Given the description of an element on the screen output the (x, y) to click on. 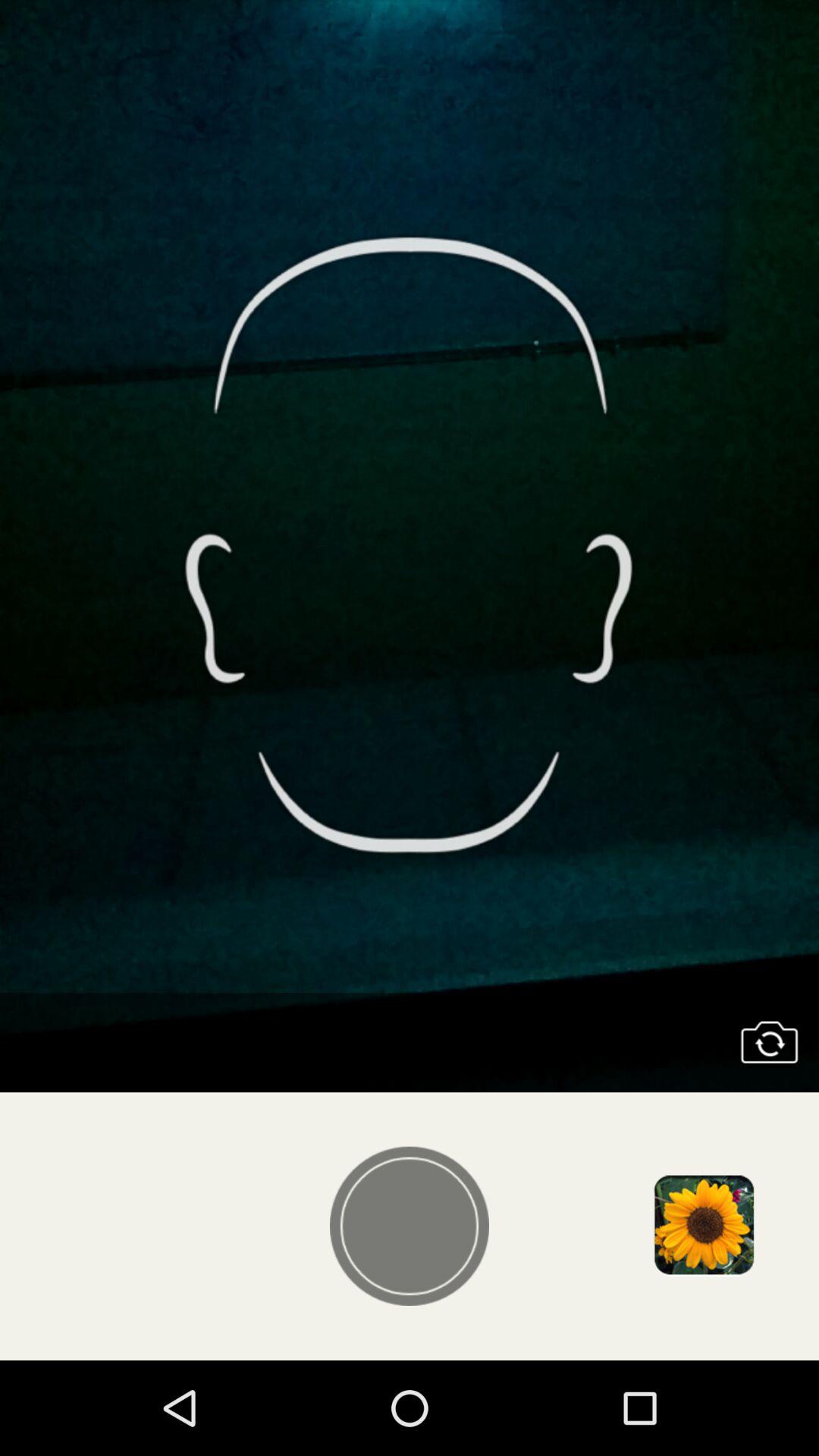
access phone 's camera (769, 1042)
